Given the description of an element on the screen output the (x, y) to click on. 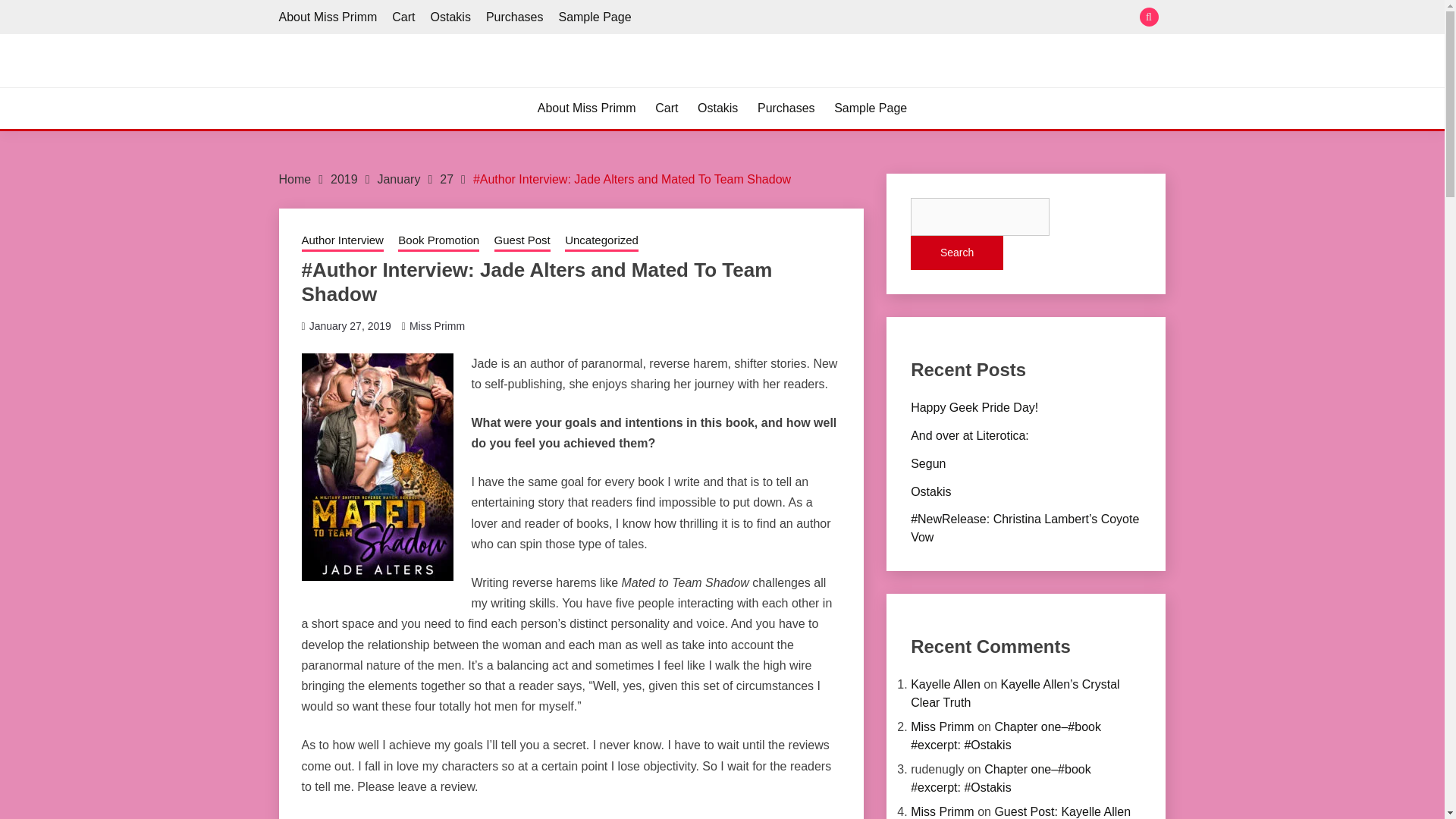
Purchases (514, 16)
About Miss Primm (586, 108)
Ostakis (717, 108)
January 27, 2019 (349, 326)
Home (295, 178)
Miss Primm (436, 326)
January (398, 178)
Purchases (786, 108)
Sample Page (870, 108)
27 (445, 178)
